Given the description of an element on the screen output the (x, y) to click on. 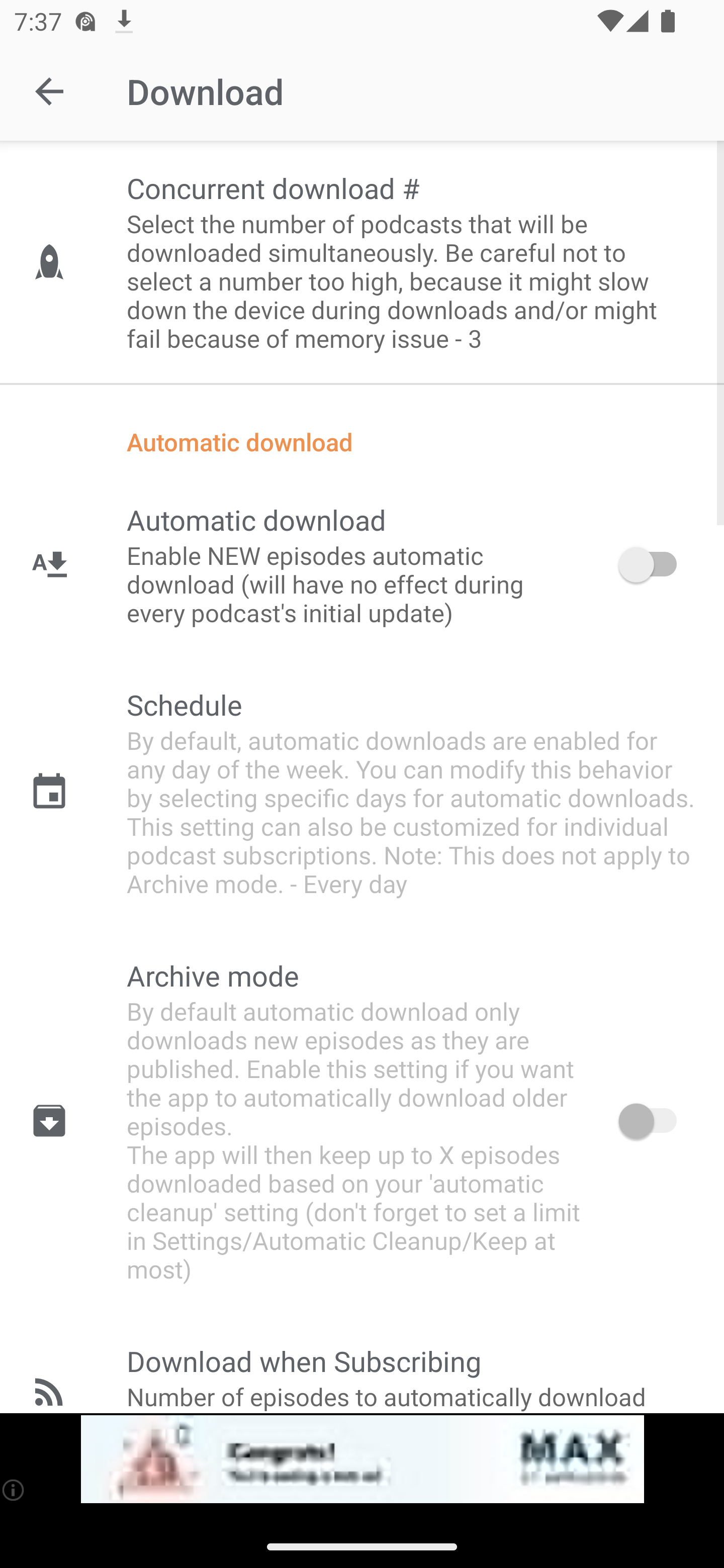
Navigate up (49, 91)
app-monetization (362, 1459)
(i) (14, 1489)
